Given the description of an element on the screen output the (x, y) to click on. 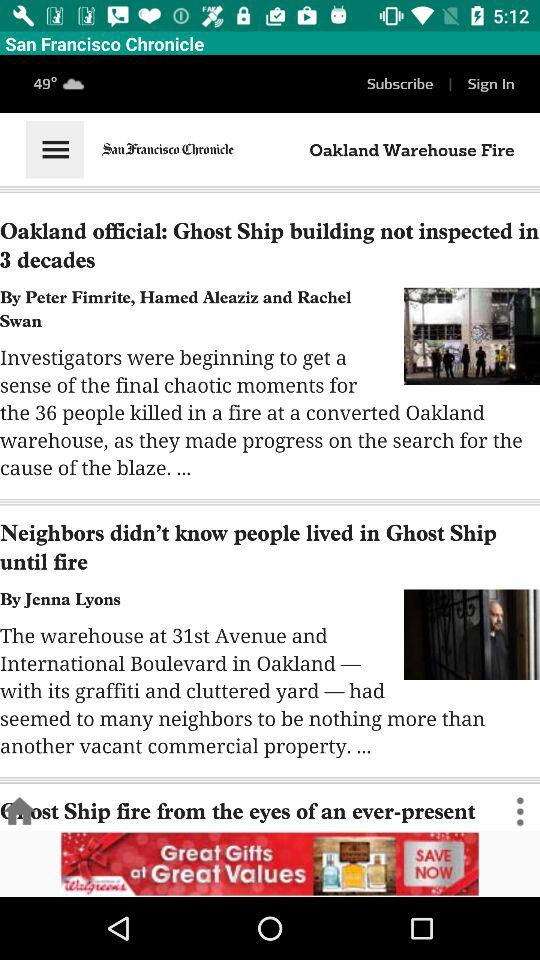
go to home (19, 811)
